Given the description of an element on the screen output the (x, y) to click on. 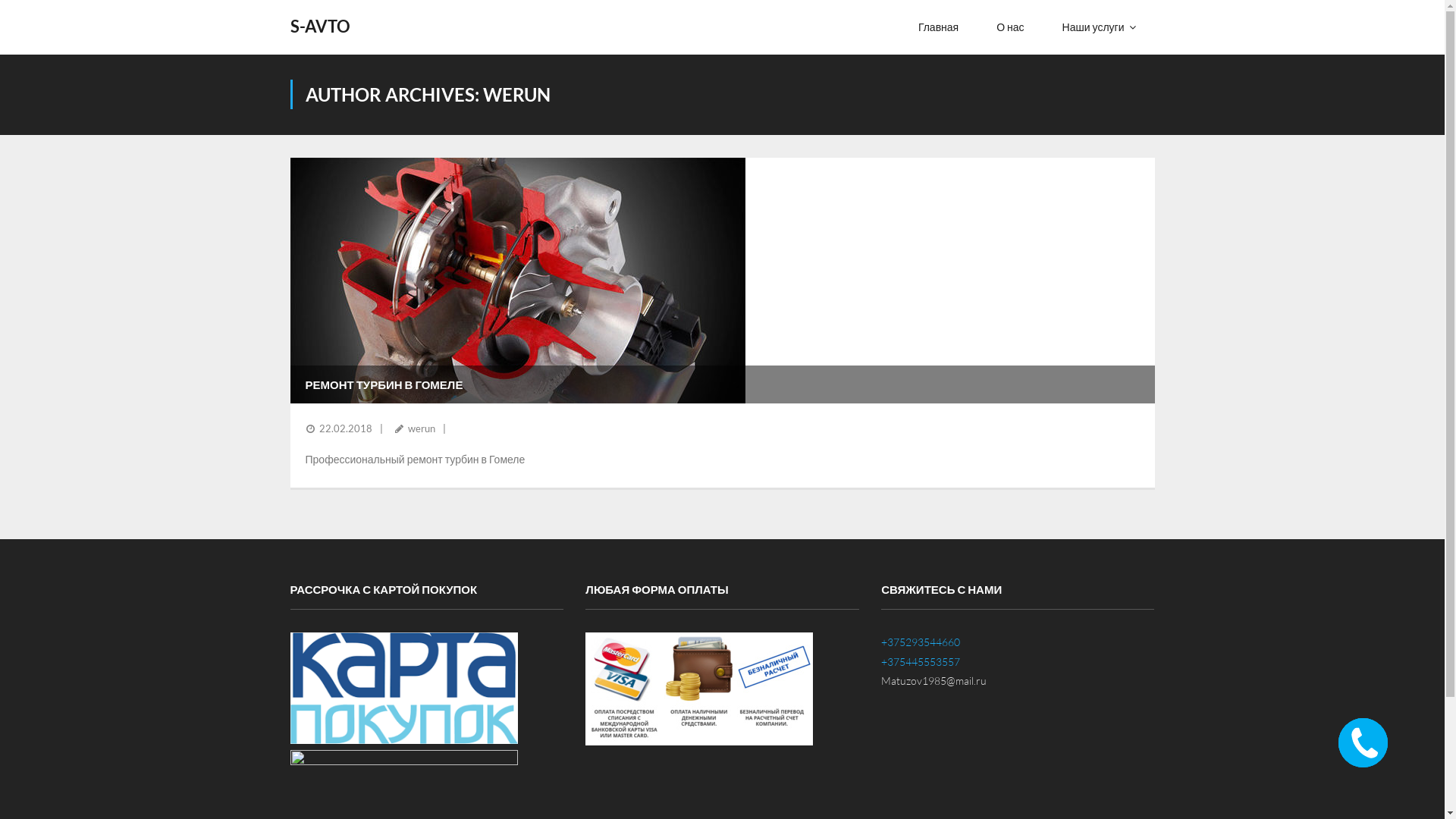
+375445553557 Element type: text (920, 661)
S-AVTO Element type: text (319, 26)
+375293544660 Element type: text (920, 641)
22.02.2018 Element type: text (344, 428)
werun Element type: text (421, 428)
